Given the description of an element on the screen output the (x, y) to click on. 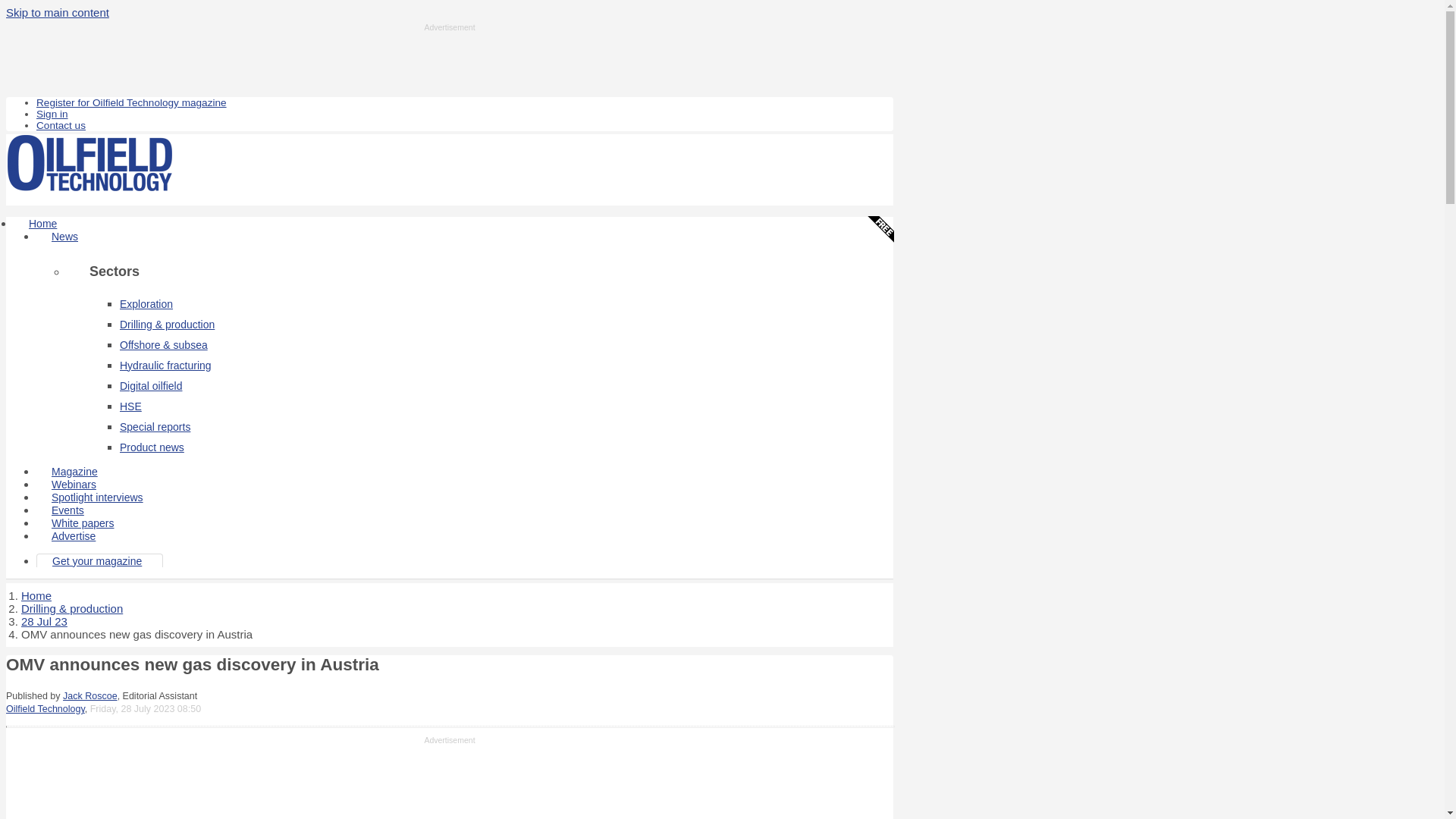
Home (42, 223)
White papers (82, 523)
Special reports (154, 426)
Advertise (73, 535)
Hydraulic fracturing (165, 365)
28 Jul 23 (43, 621)
Sign in (52, 113)
Contact us (60, 125)
Home (35, 594)
HSE (130, 406)
Contact us (60, 125)
News (64, 236)
Product news (151, 447)
Oilfield Technology (44, 708)
Register for your magazine (131, 102)
